Given the description of an element on the screen output the (x, y) to click on. 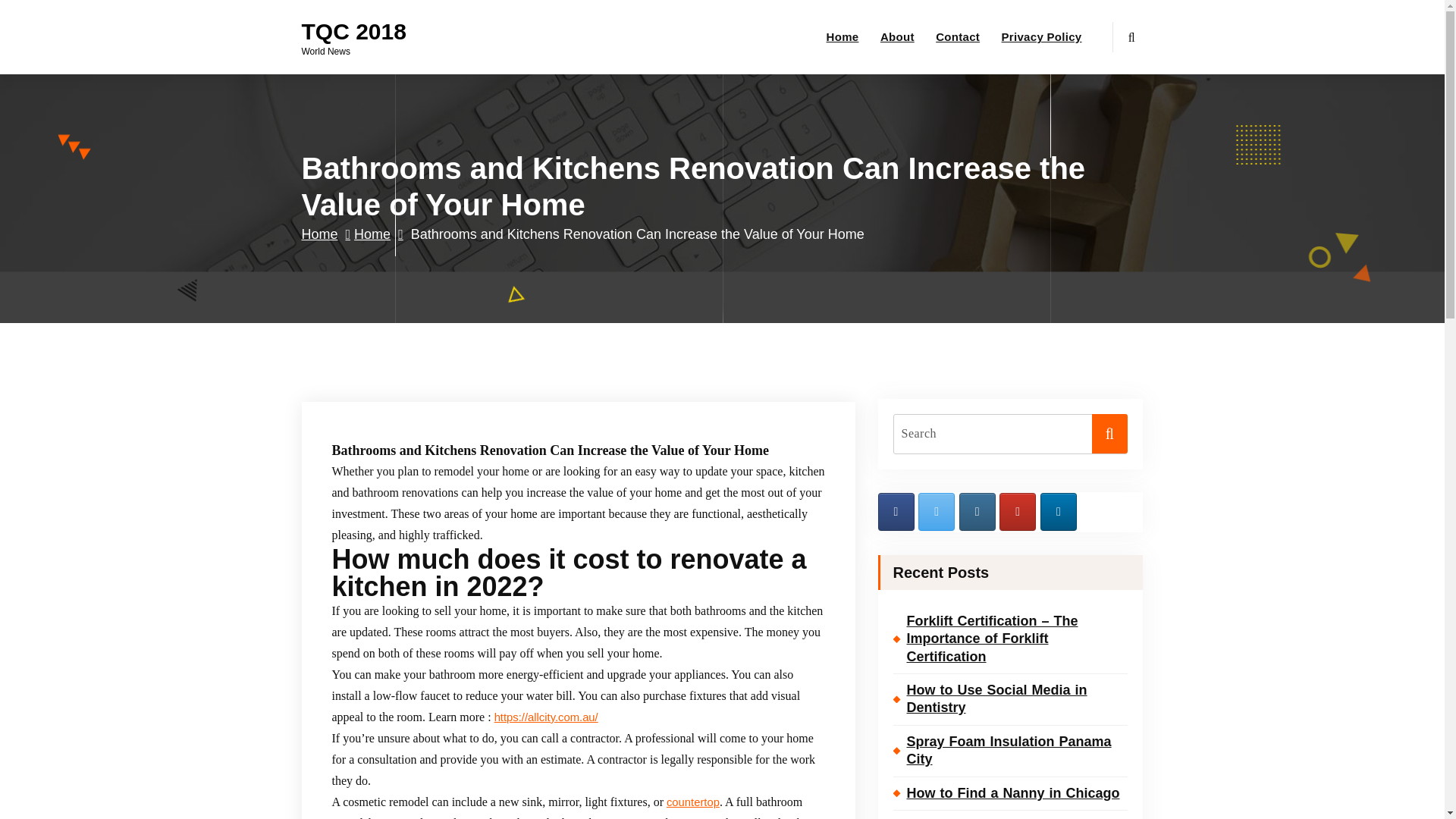
Home (842, 37)
About (897, 37)
How to Find a Nanny in Chicago (1010, 793)
About (897, 37)
TQC 2018 on Linkedin (1059, 511)
countertop (692, 802)
Home (842, 37)
TQC 2018 on X Twitter (936, 511)
Privacy Policy (1041, 37)
Home (325, 233)
